Given the description of an element on the screen output the (x, y) to click on. 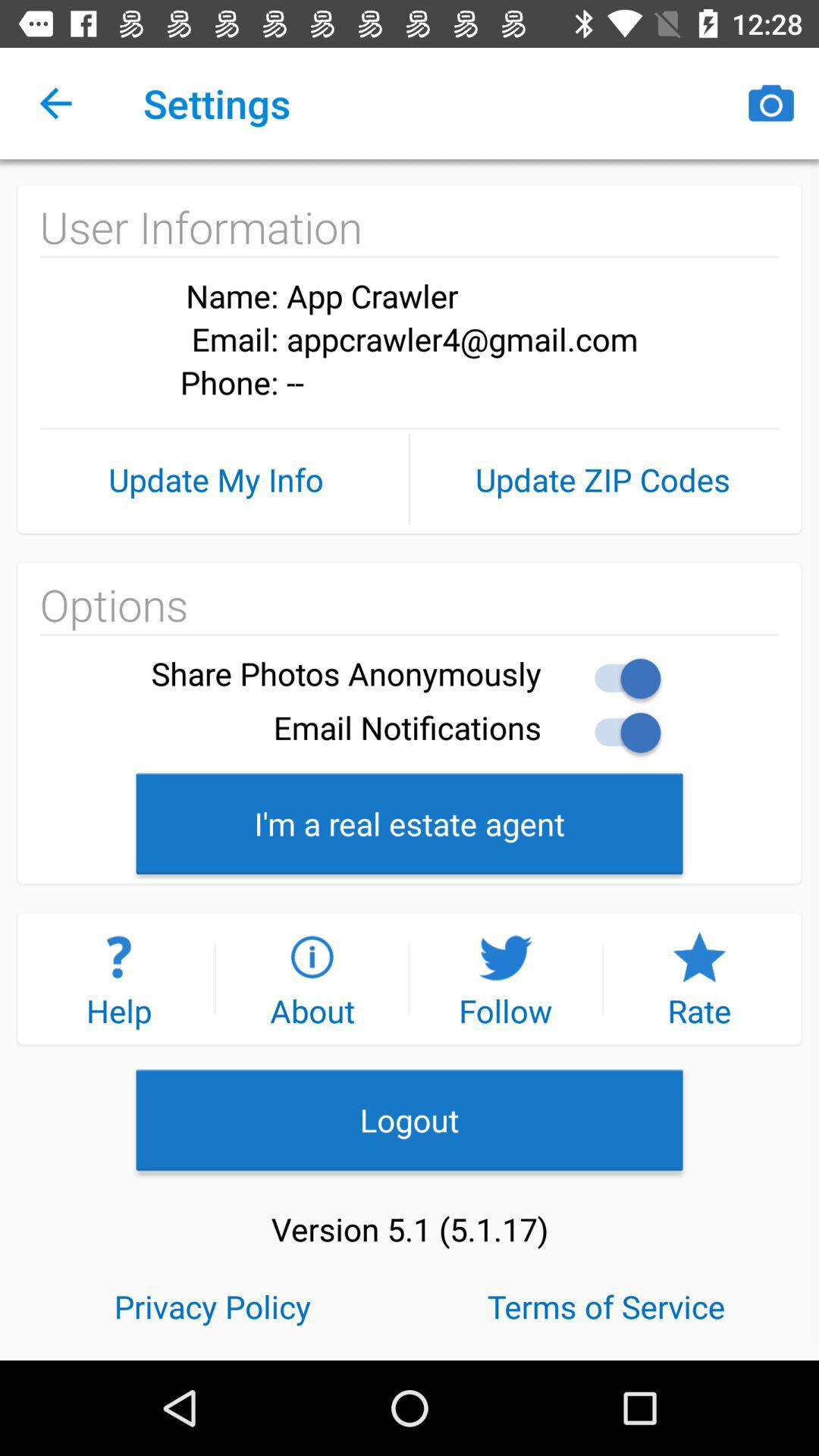
scroll until rate item (699, 978)
